Given the description of an element on the screen output the (x, y) to click on. 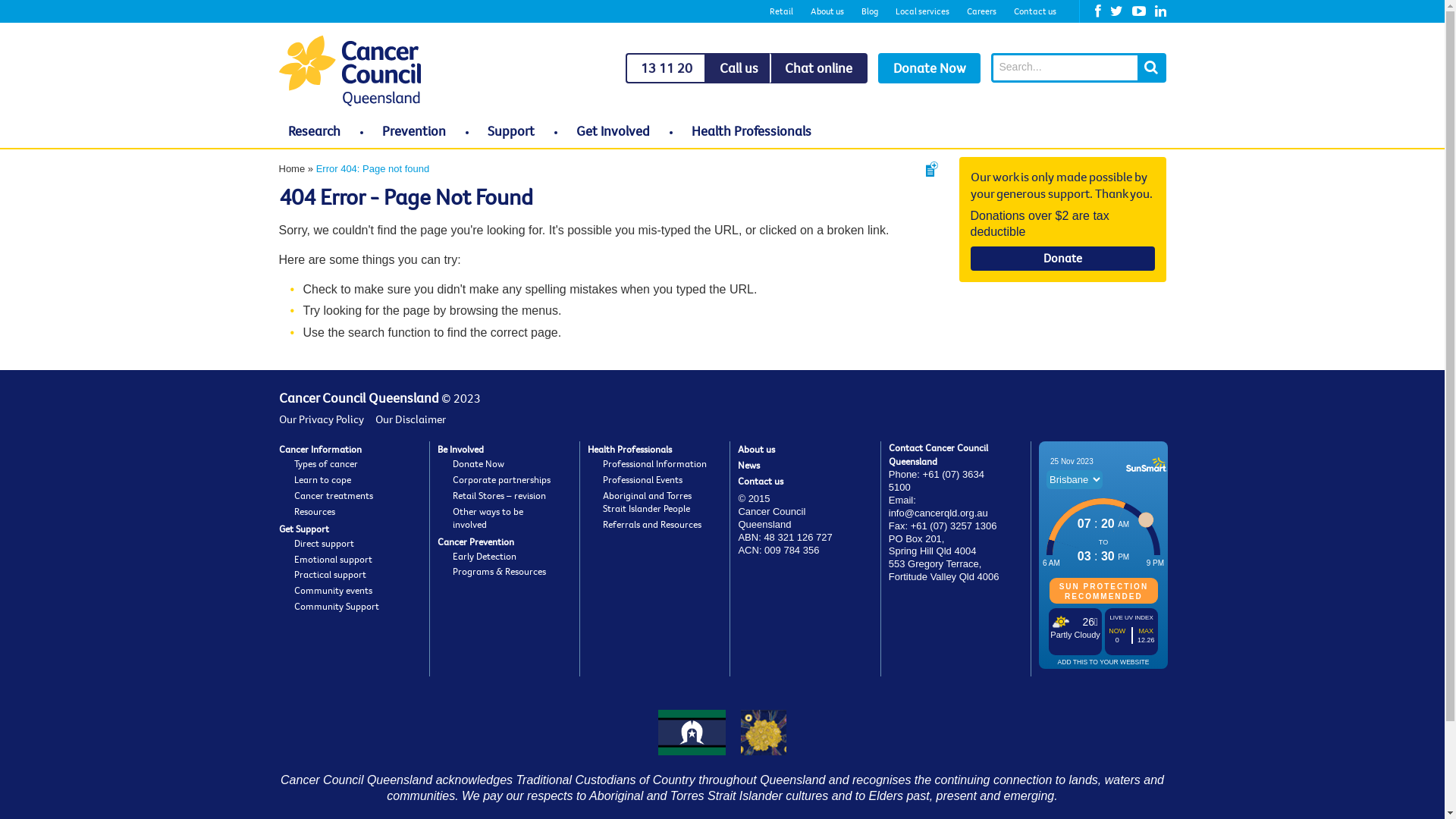
Our Disclaimer Element type: text (409, 418)
Professional Events Element type: text (642, 479)
13 11 20 Element type: text (664, 67)
Types of cancer Element type: text (325, 463)
Call us Element type: text (737, 67)
Retail Element type: text (780, 11)
Professional Information Element type: text (654, 463)
News Element type: text (748, 464)
Contact us Element type: text (760, 480)
Support Element type: text (510, 130)
Community events Element type: text (333, 589)
Cancer Prevention Element type: text (475, 541)
Emotional support Element type: text (333, 558)
Be Involved Element type: text (460, 448)
info@cancerqld.org.au Element type: text (938, 512)
Donate Now Element type: text (478, 463)
Referrals and Resources Element type: text (651, 523)
Donate Now Element type: text (929, 67)
Programs & Resources Element type: text (499, 570)
Contact us Element type: text (1034, 11)
Research Element type: text (314, 130)
Other ways to be involved Element type: text (487, 517)
Local services Element type: text (921, 11)
Aboriginal and Torres Strait Islander People Element type: text (646, 501)
Careers Element type: text (980, 11)
Health Professionals Element type: text (629, 448)
Blog Element type: text (869, 11)
Chat online Element type: text (817, 67)
Practical support Element type: text (330, 573)
Direct support Element type: text (324, 542)
Early Detection Element type: text (484, 555)
Health Professionals Element type: text (751, 130)
Get Support Element type: text (304, 528)
Cancer treatments Element type: text (333, 495)
Cancer Information Element type: text (320, 448)
Resources Element type: text (314, 511)
Donate Element type: text (1062, 258)
Get Involved Element type: text (612, 130)
Community Support Element type: text (336, 605)
About us Element type: text (756, 448)
Prevention Element type: text (413, 130)
Learn to cope Element type: text (322, 479)
About us Element type: text (826, 11)
Corporate partnerships Element type: text (501, 479)
Our Privacy Policy Element type: text (321, 418)
Home Element type: text (292, 168)
